Given the description of an element on the screen output the (x, y) to click on. 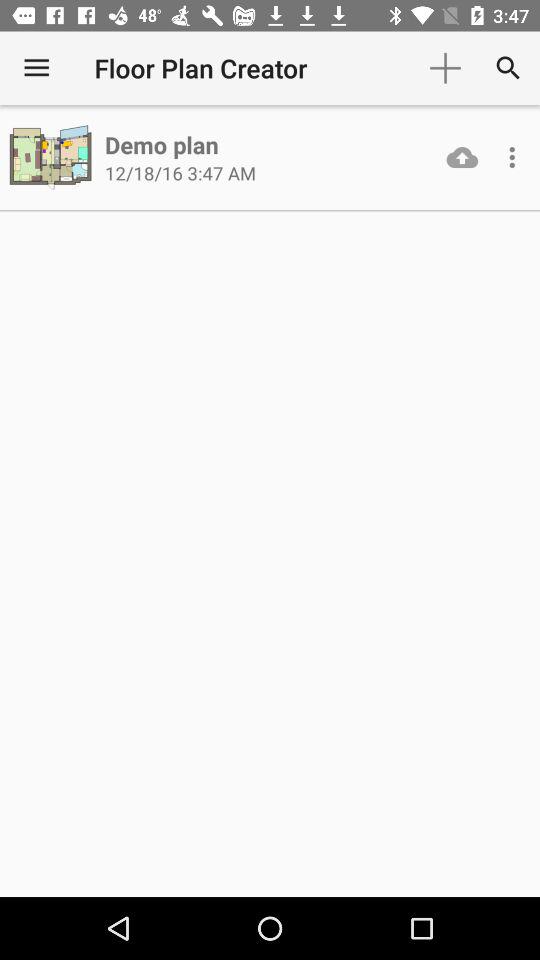
tap item below the floor plan creator item (161, 144)
